Given the description of an element on the screen output the (x, y) to click on. 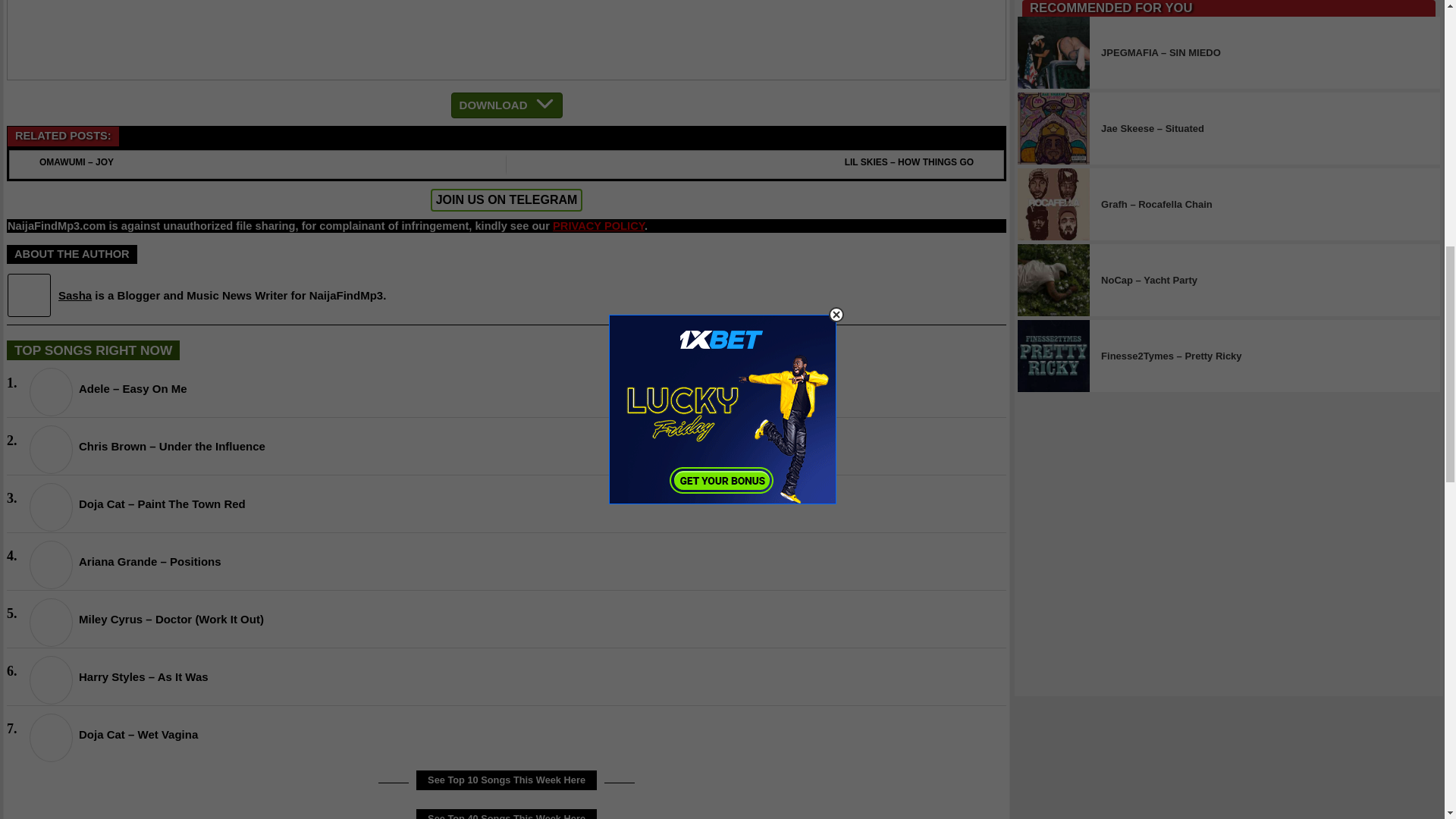
See Top 10 Songs This Week Here (506, 780)
See Top 40 Songs This Week Here (506, 814)
JOIN US ON TELEGRAM (506, 199)
DOWNLOAD (506, 104)
PRIVACY POLICY (599, 225)
YouTube video player (506, 40)
